Given the description of an element on the screen output the (x, y) to click on. 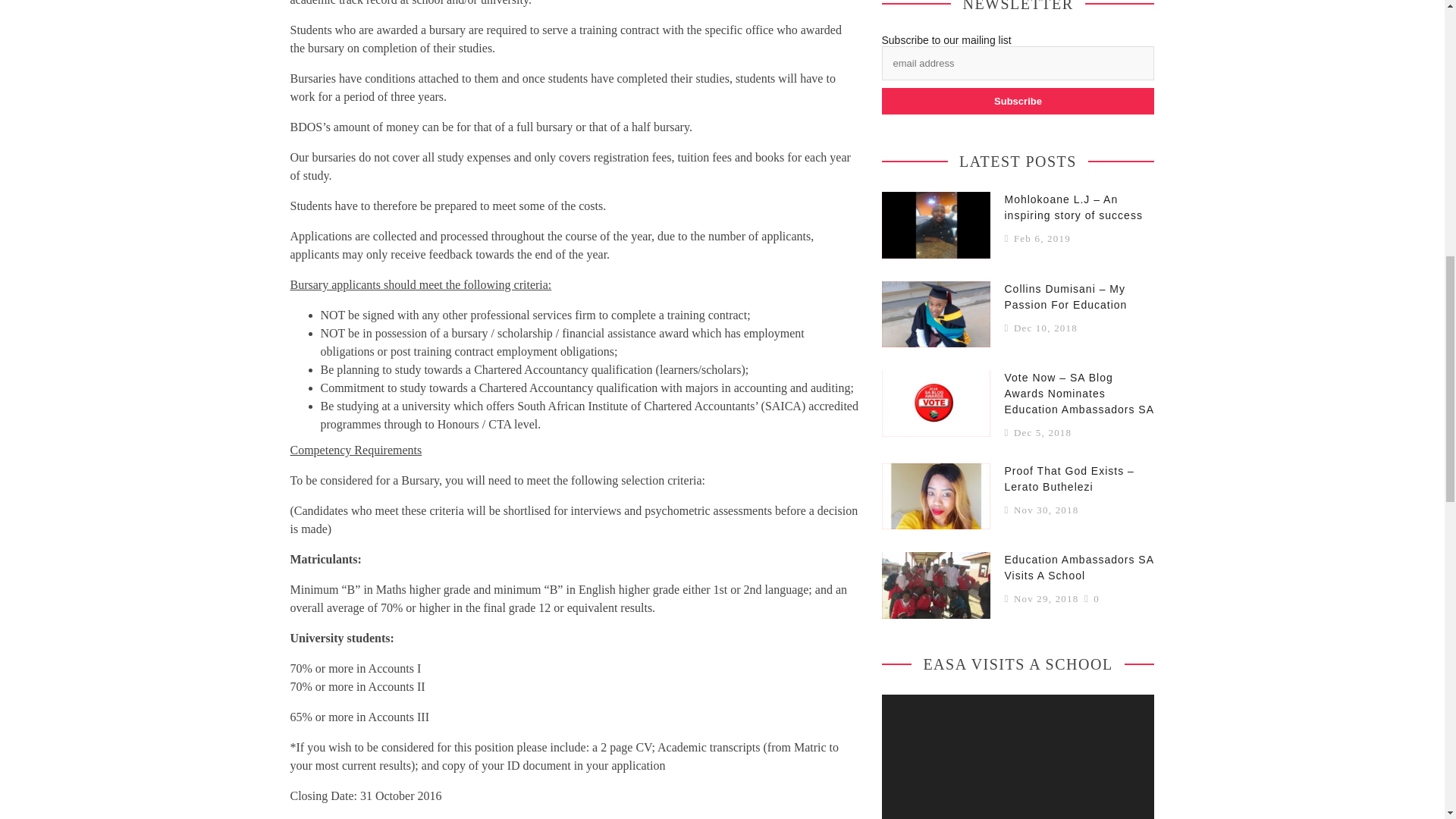
Subscribe (1017, 100)
